Given the description of an element on the screen output the (x, y) to click on. 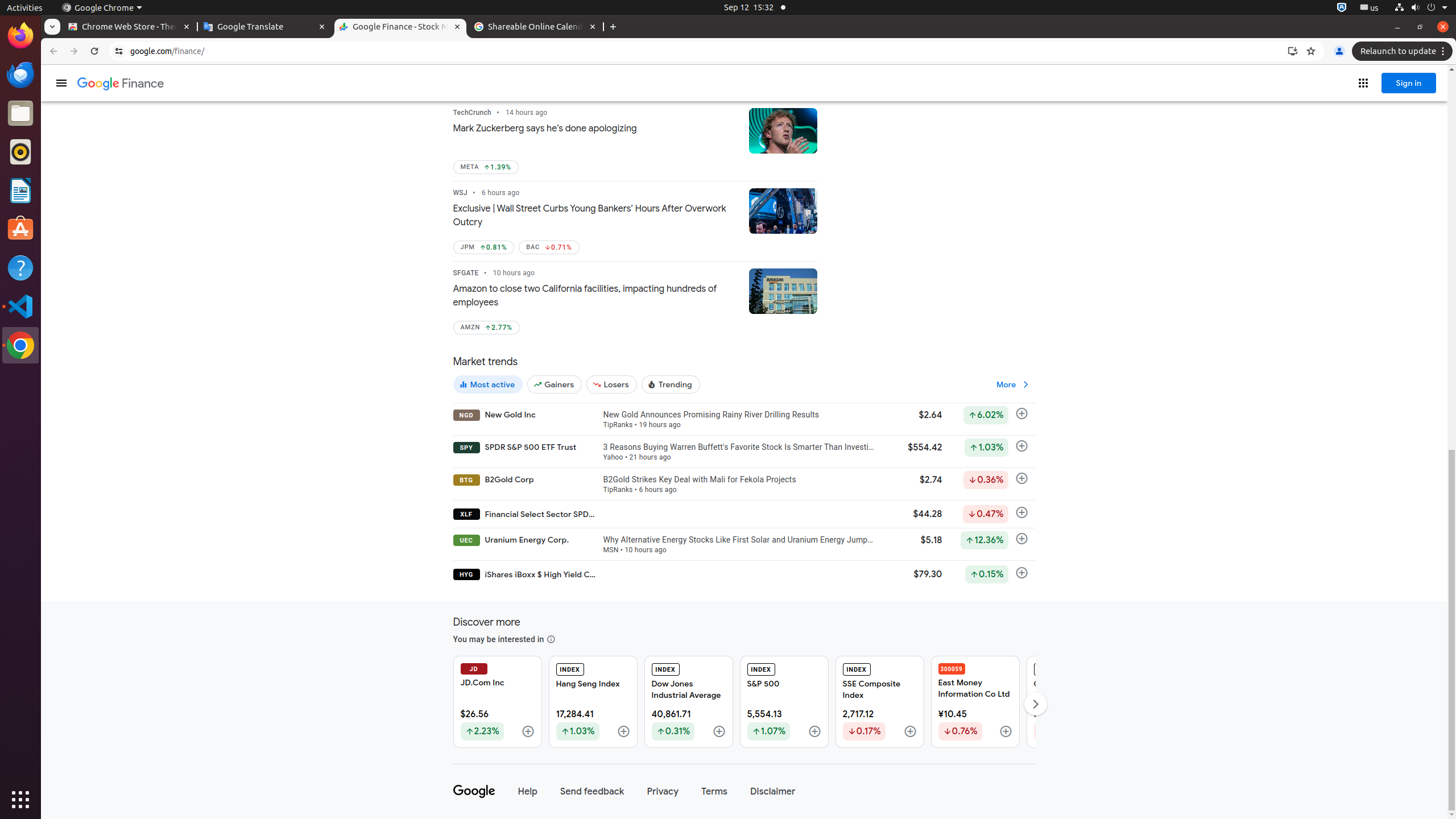
Shareable Online Calendar and Scheduling - Google Calendar - Memory usage - 88.1 MB Element type: page-tab (535, 26)
UEC Uranium Energy Corp. Why Alternative Energy Stocks Like First Solar and Uranium Energy Jumped on Wednesday MSN • 10 hours ago $5.18 Up by 12.36% Follow Element type: link (743, 542)
Files Element type: push-button (20, 113)
Send feedback Element type: push-button (592, 791)
Firefox Web Browser Element type: push-button (20, 35)
